Given the description of an element on the screen output the (x, y) to click on. 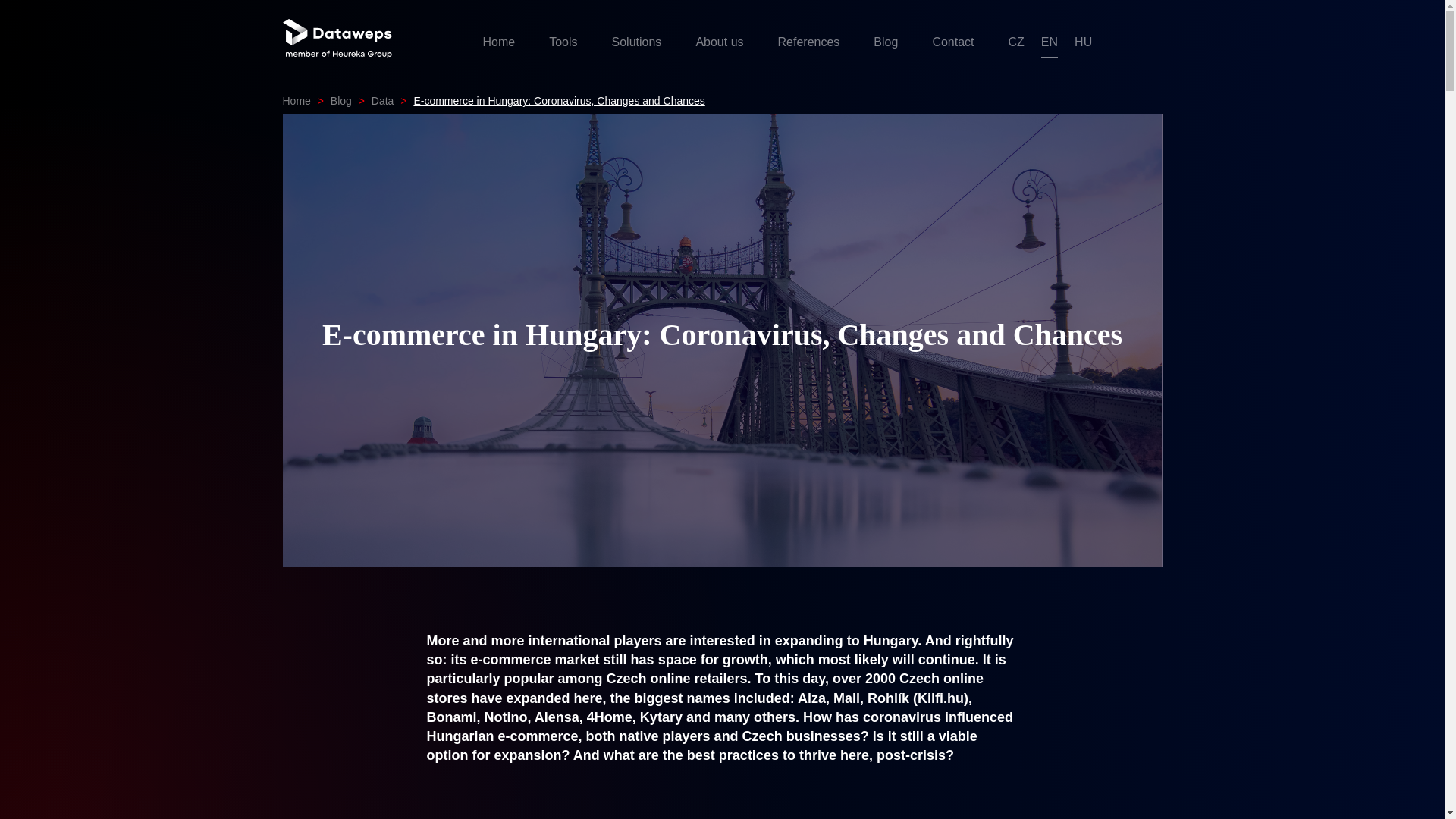
Home (296, 101)
About us (718, 42)
Data (382, 101)
Contact (952, 42)
Tools (562, 42)
Solutions (636, 42)
References (808, 42)
Home (498, 42)
Blog (341, 101)
